Given the description of an element on the screen output the (x, y) to click on. 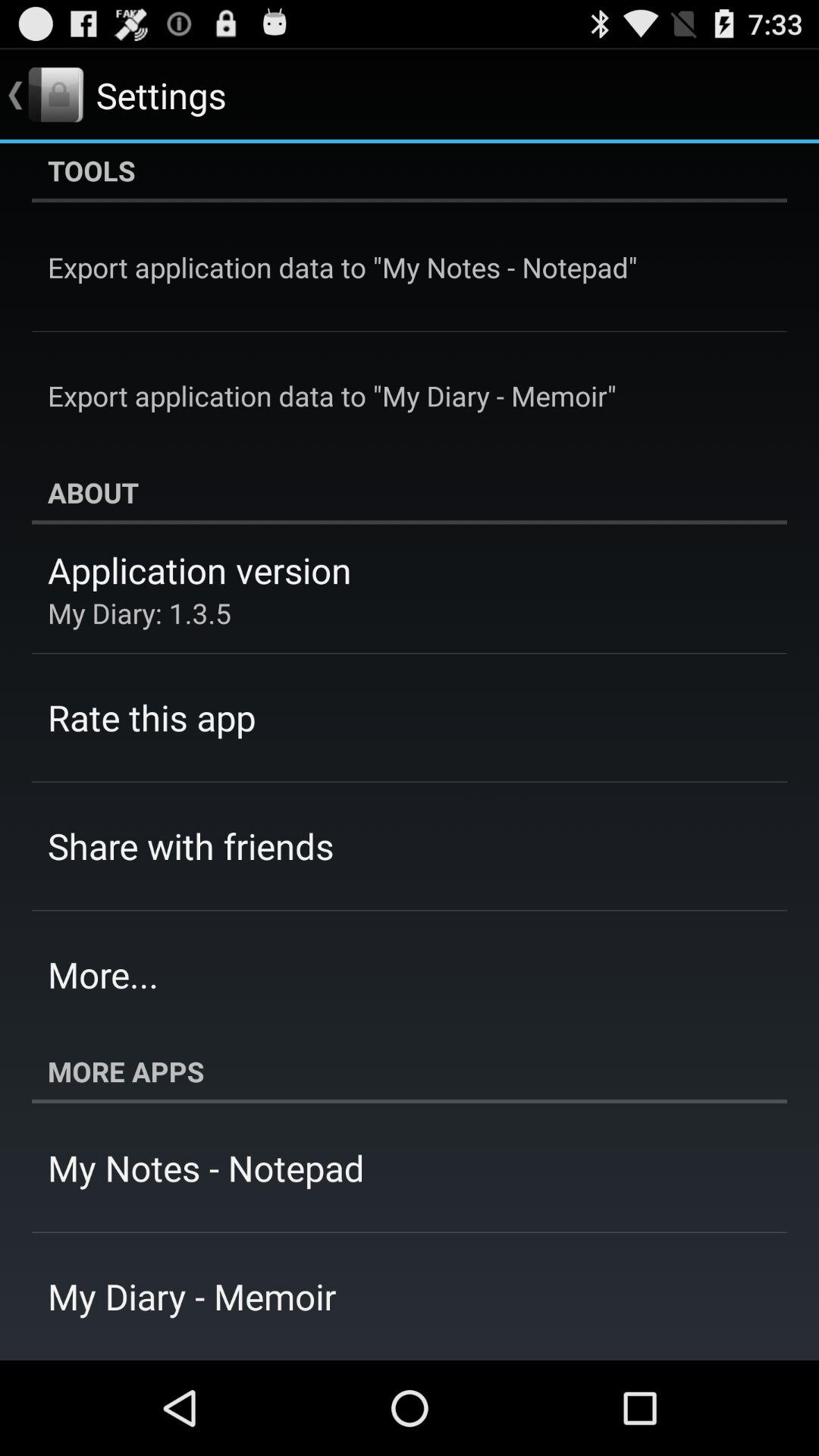
choose the app below about app (199, 570)
